Given the description of an element on the screen output the (x, y) to click on. 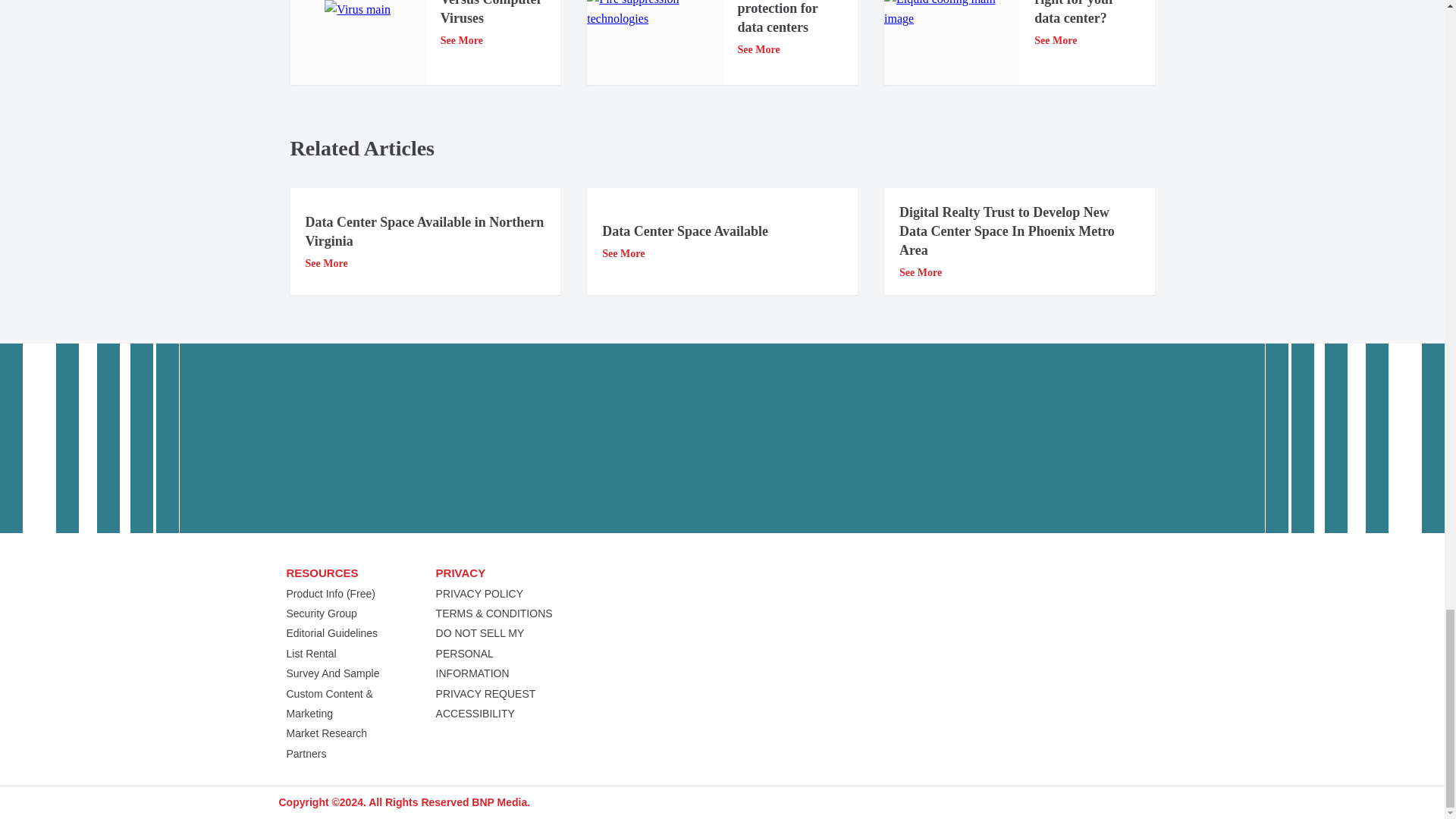
Virus main (357, 9)
Liquid cooling main image (951, 14)
Fire suppression technologies (654, 14)
